Given the description of an element on the screen output the (x, y) to click on. 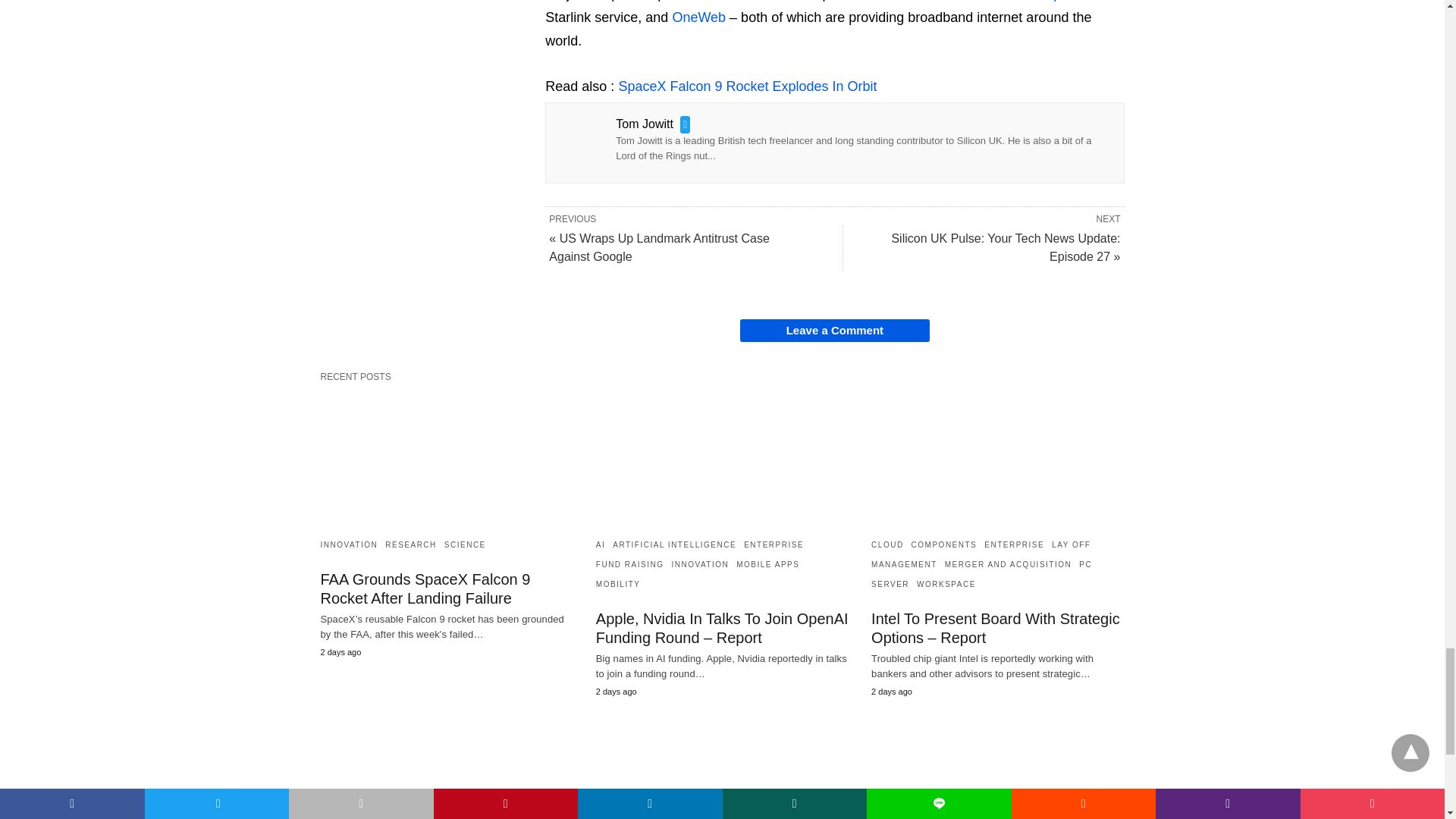
Leave a Comment (834, 330)
Leave a Comment (834, 330)
SpaceX Falcon 9 Rocket Explodes In Orbit (746, 86)
OneWeb (698, 17)
